Given the description of an element on the screen output the (x, y) to click on. 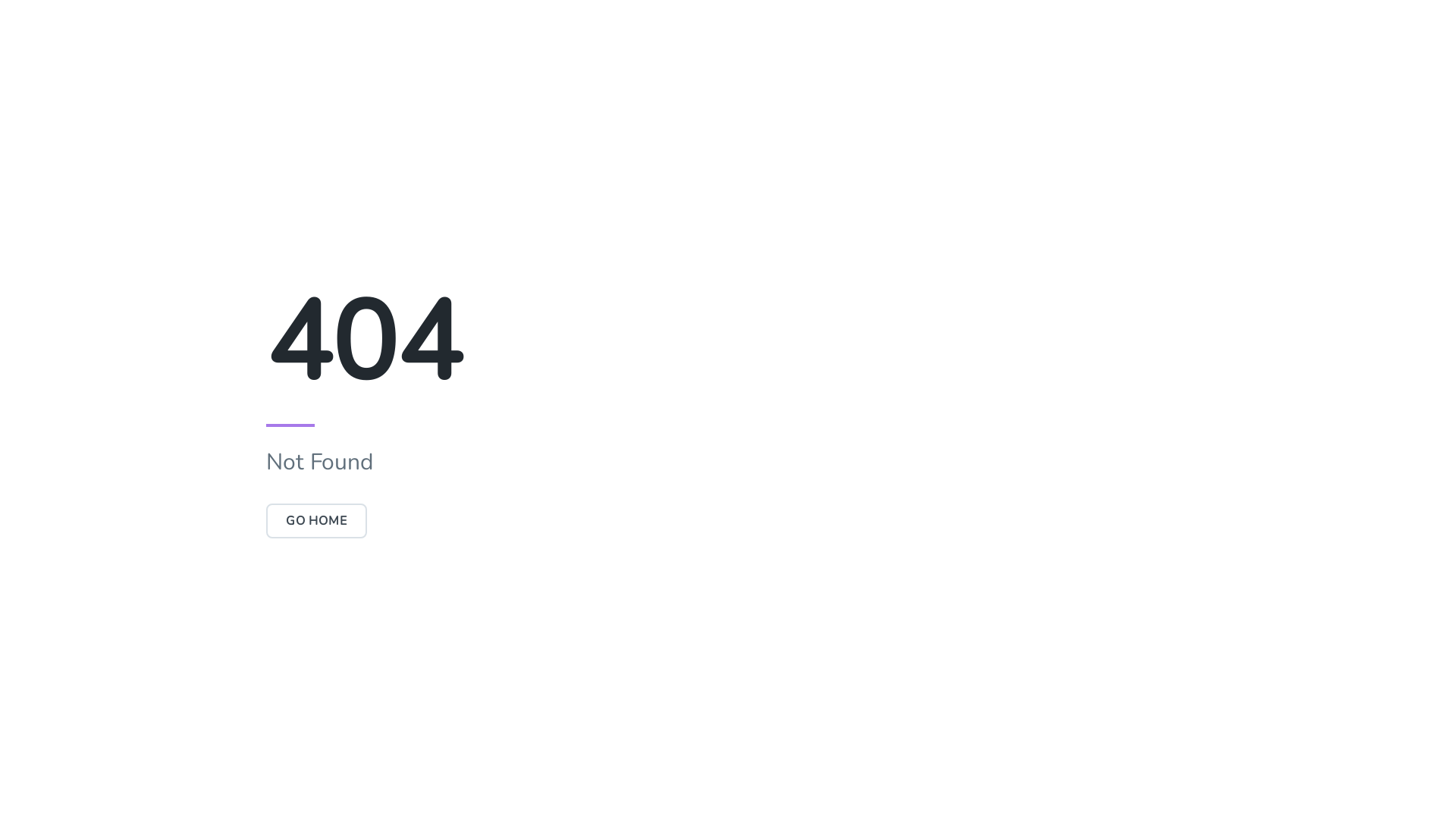
GO HOME Element type: text (316, 520)
GO HOME Element type: text (316, 520)
